Given the description of an element on the screen output the (x, y) to click on. 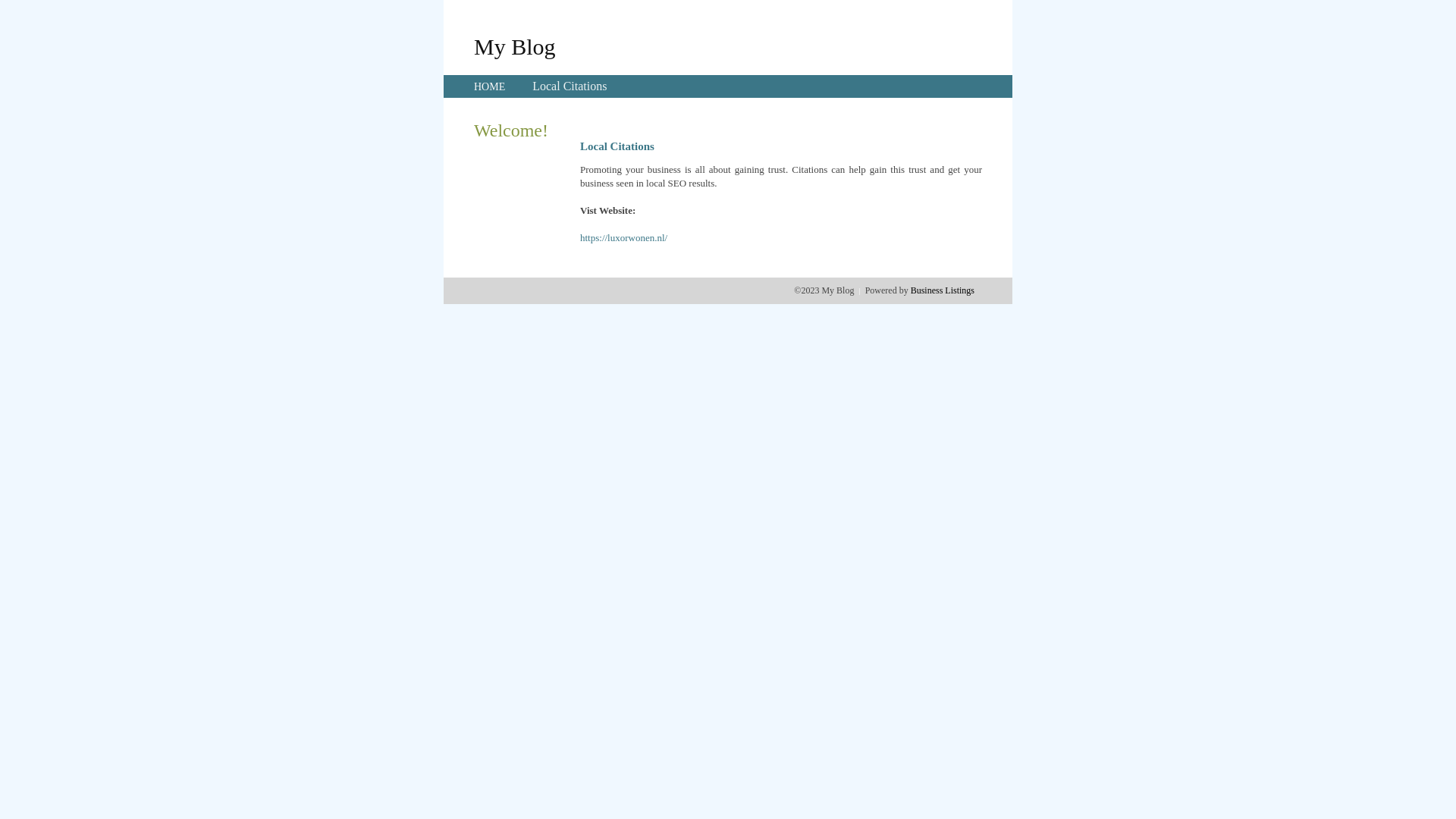
https://luxorwonen.nl/ Element type: text (623, 237)
Local Citations Element type: text (569, 85)
HOME Element type: text (489, 86)
My Blog Element type: text (514, 46)
Business Listings Element type: text (942, 290)
